Given the description of an element on the screen output the (x, y) to click on. 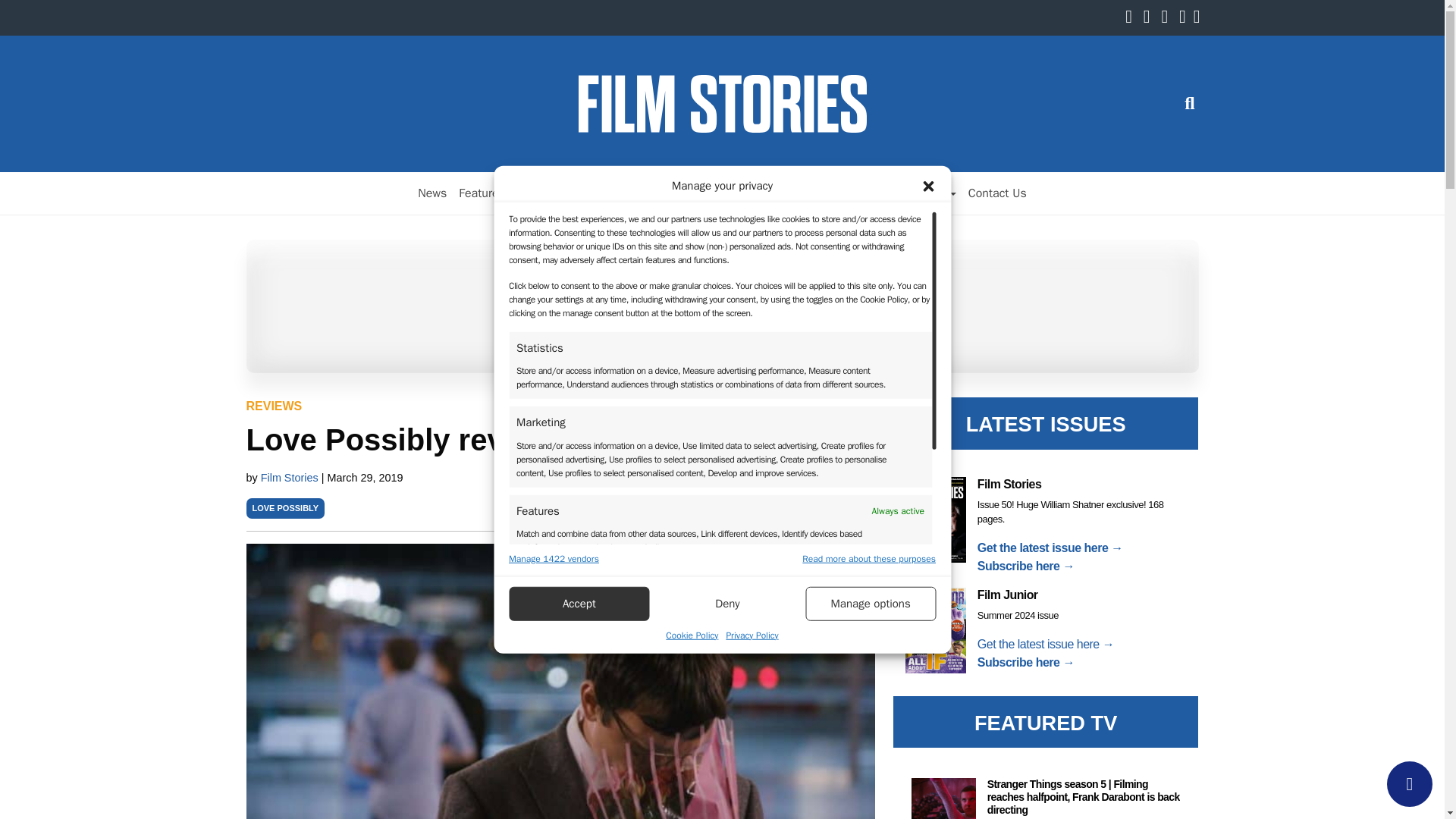
Store (805, 193)
Cookie Policy (691, 634)
Read more about these purposes (869, 558)
Accept (578, 602)
Deny (727, 602)
Manage options (870, 602)
Live Events (749, 193)
Reviews (538, 193)
Love Possibly (284, 507)
Follow us on Instagram (1167, 18)
Features (481, 193)
Manage 1422 vendors (553, 558)
TV (578, 193)
Follow us on Youtube (1186, 18)
Follow us on Facebook (1132, 18)
